Given the description of an element on the screen output the (x, y) to click on. 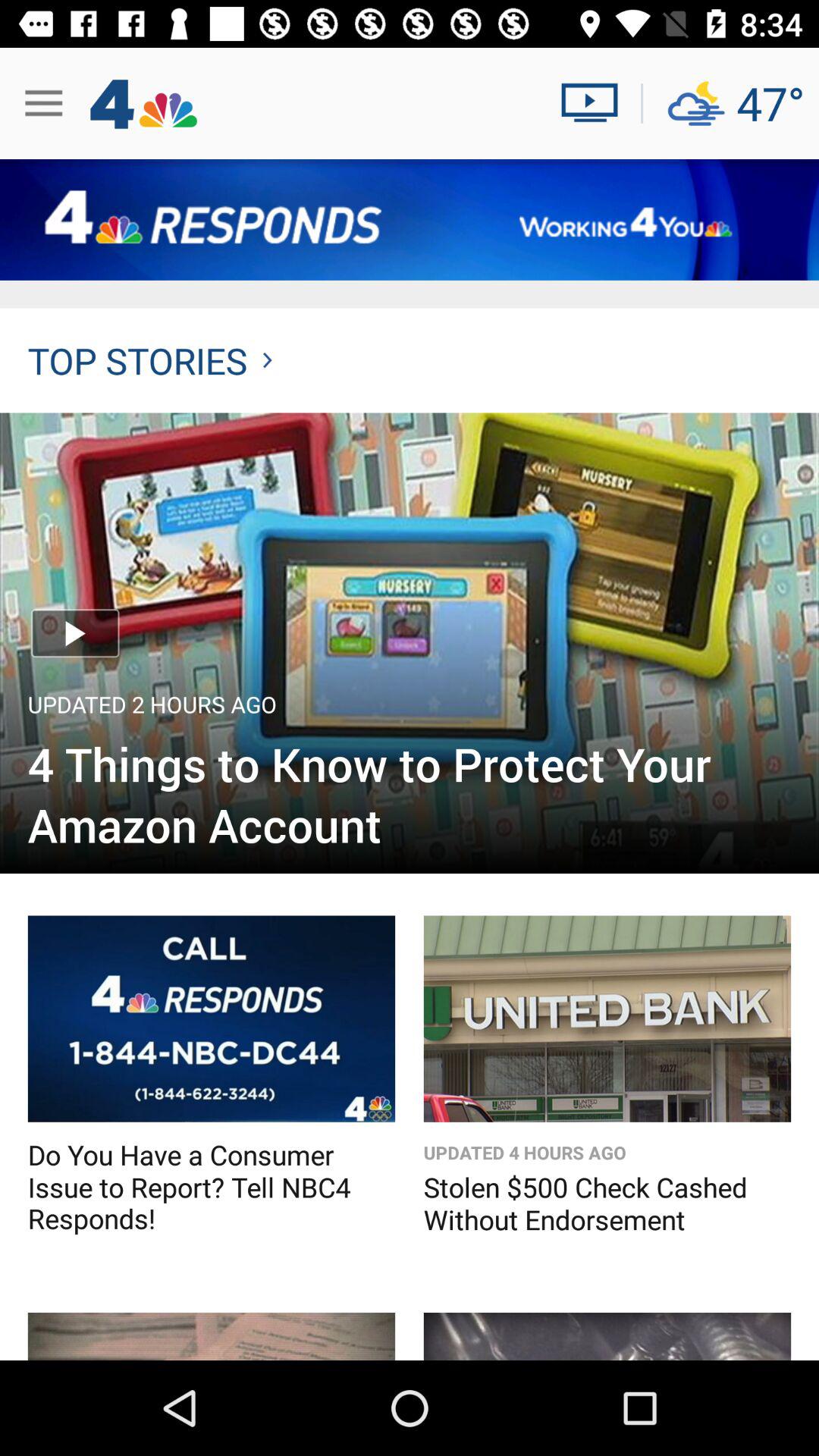
select article (409, 642)
